Given the description of an element on the screen output the (x, y) to click on. 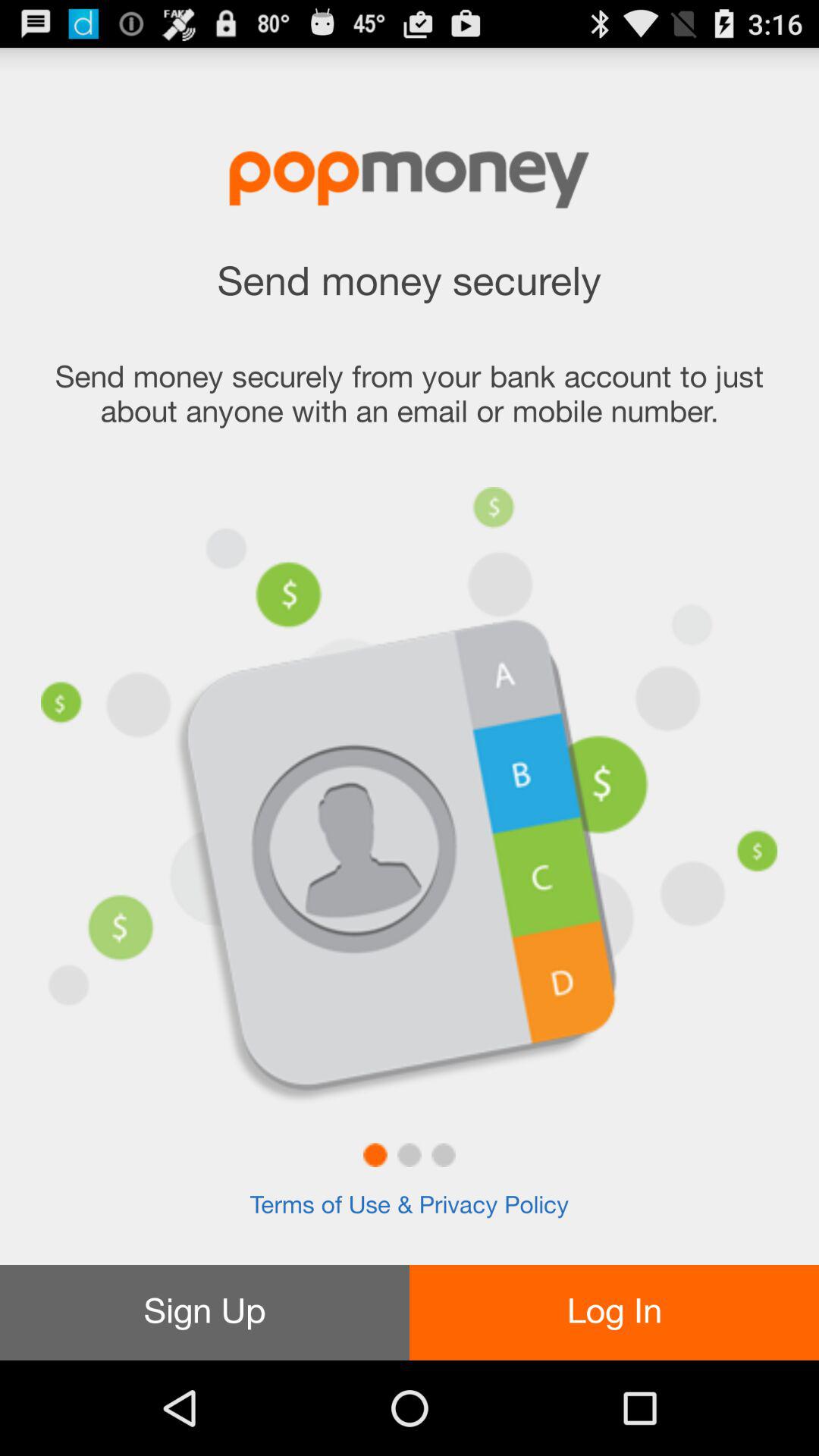
scroll until terms of use item (409, 1205)
